Given the description of an element on the screen output the (x, y) to click on. 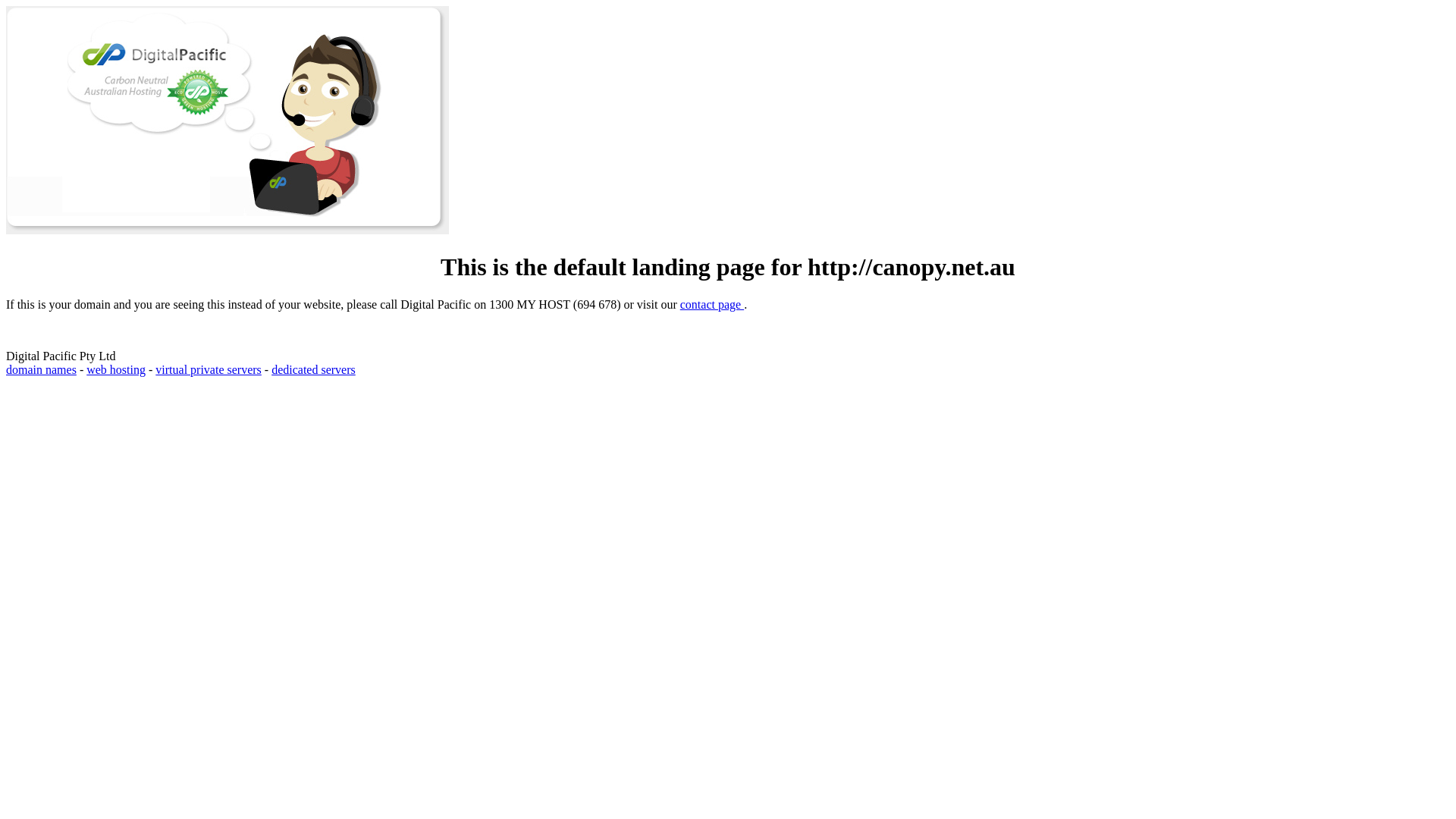
domain names Element type: text (41, 369)
web hosting Element type: text (115, 369)
virtual private servers Element type: text (208, 369)
contact page Element type: text (711, 304)
dedicated servers Element type: text (313, 369)
